Given the description of an element on the screen output the (x, y) to click on. 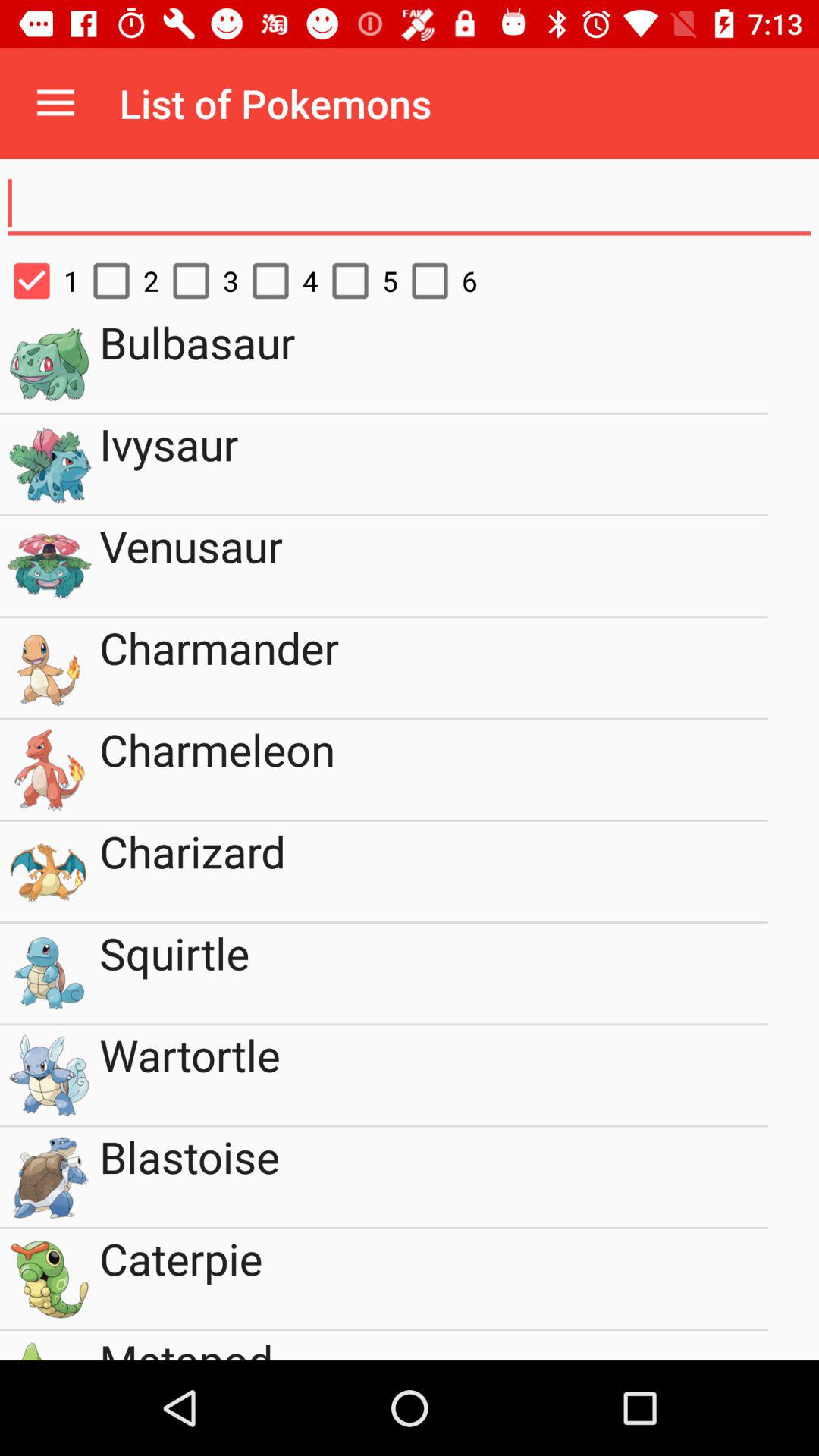
scroll until blastoise icon (433, 1176)
